Given the description of an element on the screen output the (x, y) to click on. 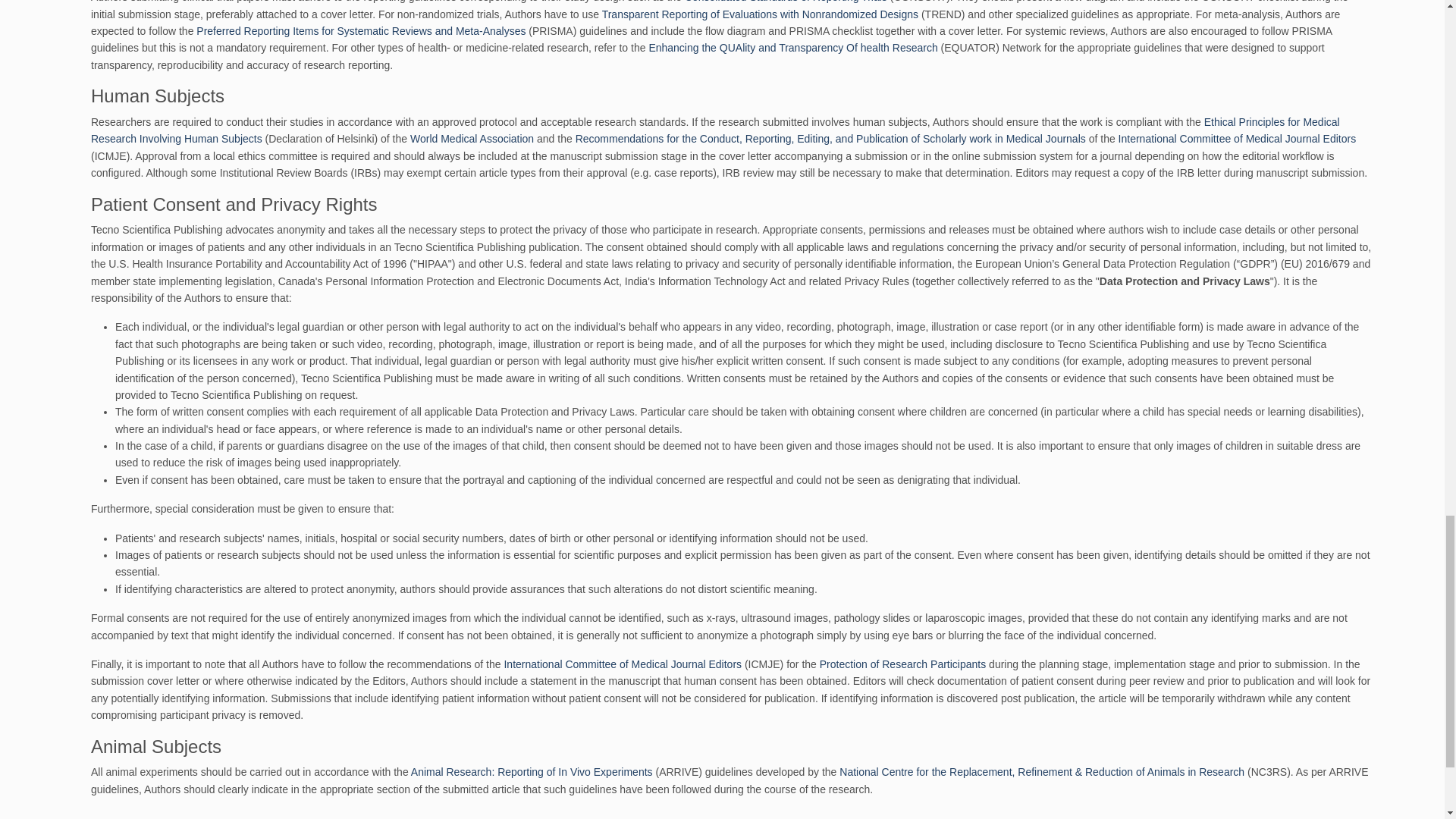
Enhancing the QUAlity and Transparency Of health Research (792, 47)
Consolidated Standards of Reporting Trials (785, 1)
